Given the description of an element on the screen output the (x, y) to click on. 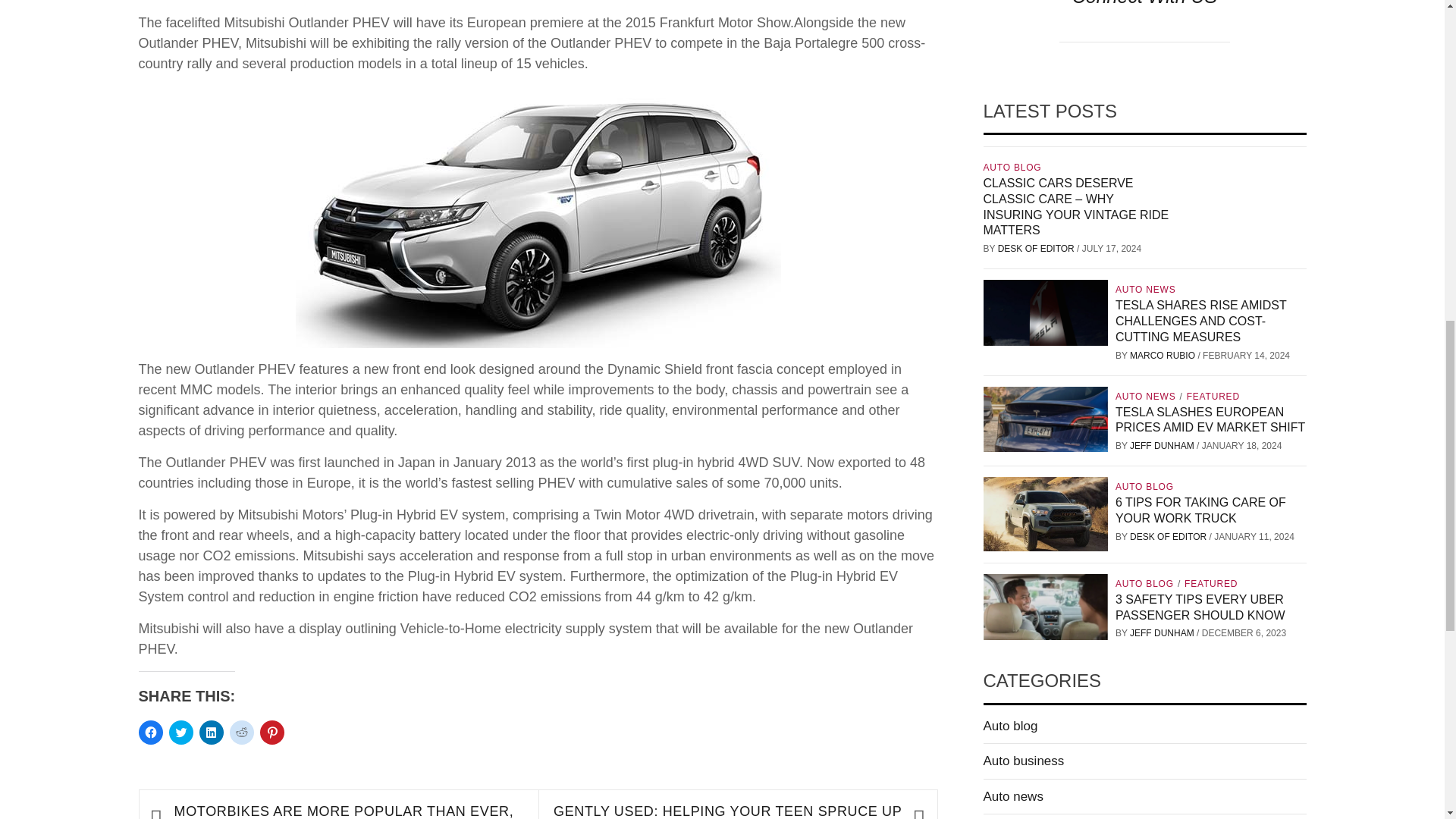
Click to share on Facebook (149, 732)
Click to share on Pinterest (271, 732)
AUTO BLOG (1013, 166)
Click to share on Twitter (180, 732)
DESK OF EDITOR (1037, 248)
AUTO NEWS (1147, 289)
Click to share on LinkedIn (210, 732)
GENTLY USED: HELPING YOUR TEEN SPRUCE UP THEIR FIRST CAR (726, 810)
MARCO RUBIO (1162, 355)
Click to share on Reddit (240, 732)
